Given the description of an element on the screen output the (x, y) to click on. 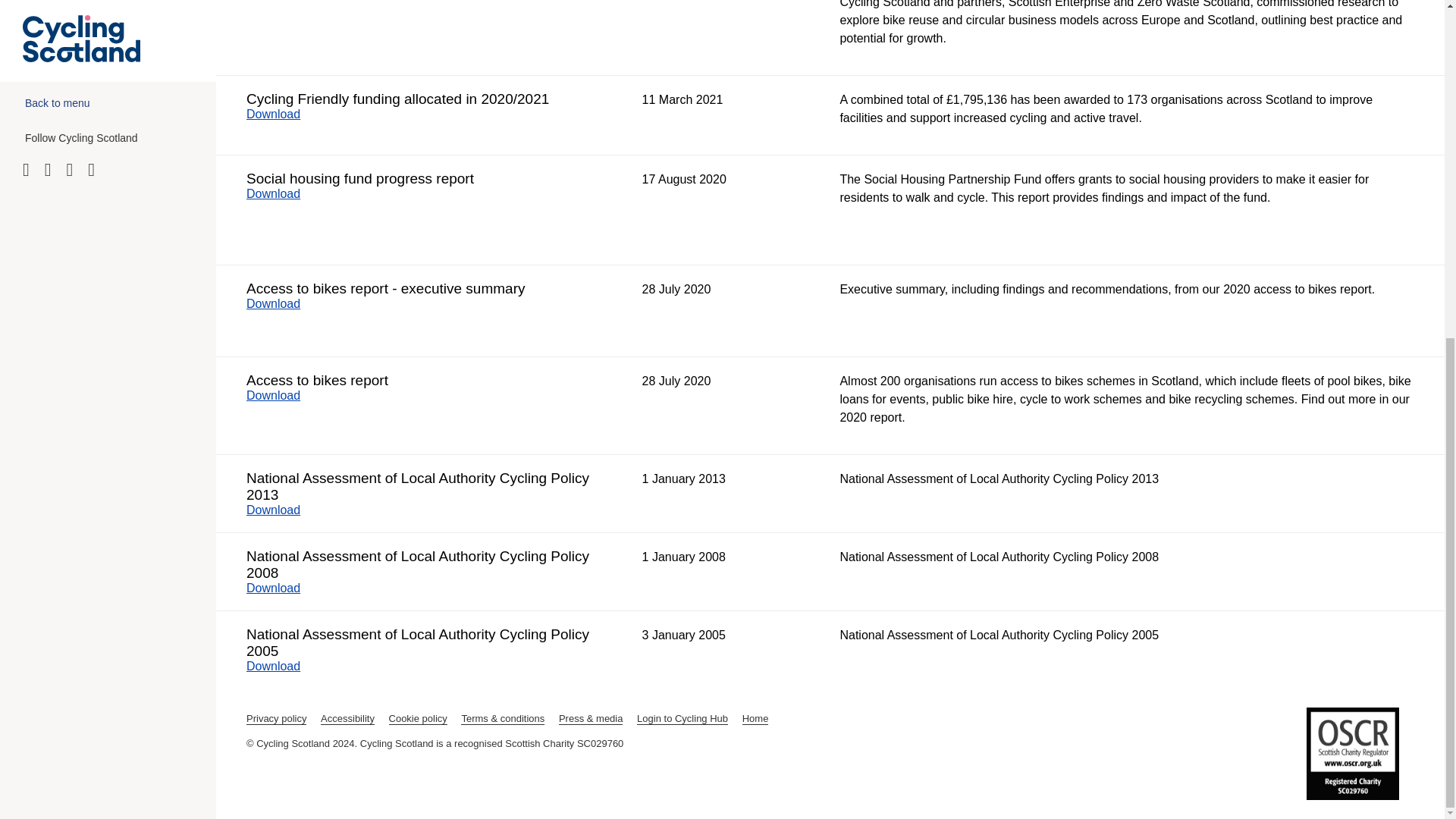
Download (280, 395)
Download (280, 509)
Download (280, 303)
Download (280, 113)
Home (755, 718)
Login to Cycling Hub (682, 718)
Accessibility (347, 718)
Cookie policy (417, 718)
Download (280, 193)
Privacy policy (275, 718)
Download (280, 666)
Download (280, 587)
